Given the description of an element on the screen output the (x, y) to click on. 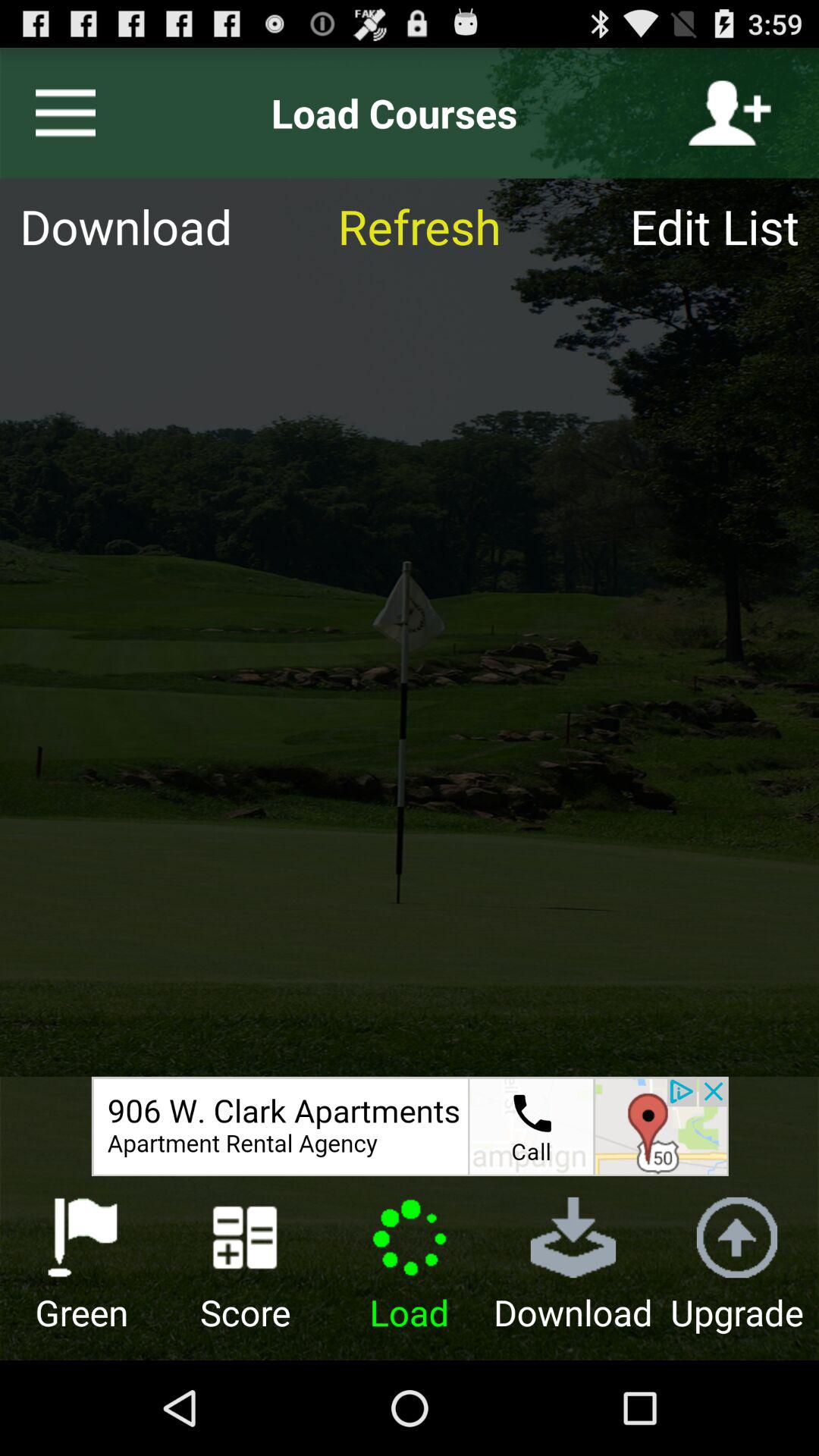
select advertisement (409, 1126)
